Given the description of an element on the screen output the (x, y) to click on. 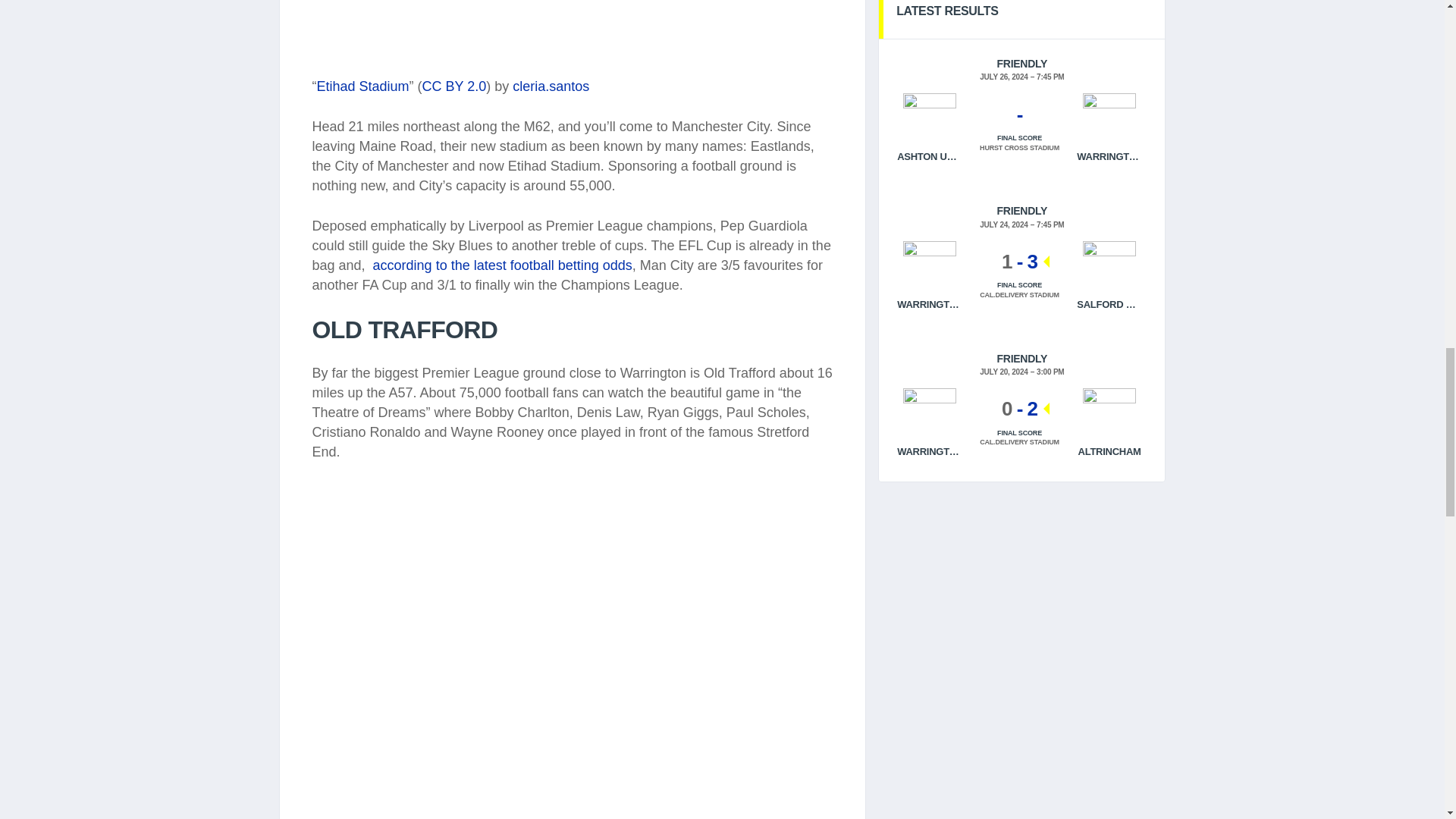
Salford City (1109, 267)
Warrington Town (1109, 119)
Warrington Town (929, 267)
Altrincham (1109, 410)
Warrington Town (929, 414)
Ashton United (929, 119)
